Given the description of an element on the screen output the (x, y) to click on. 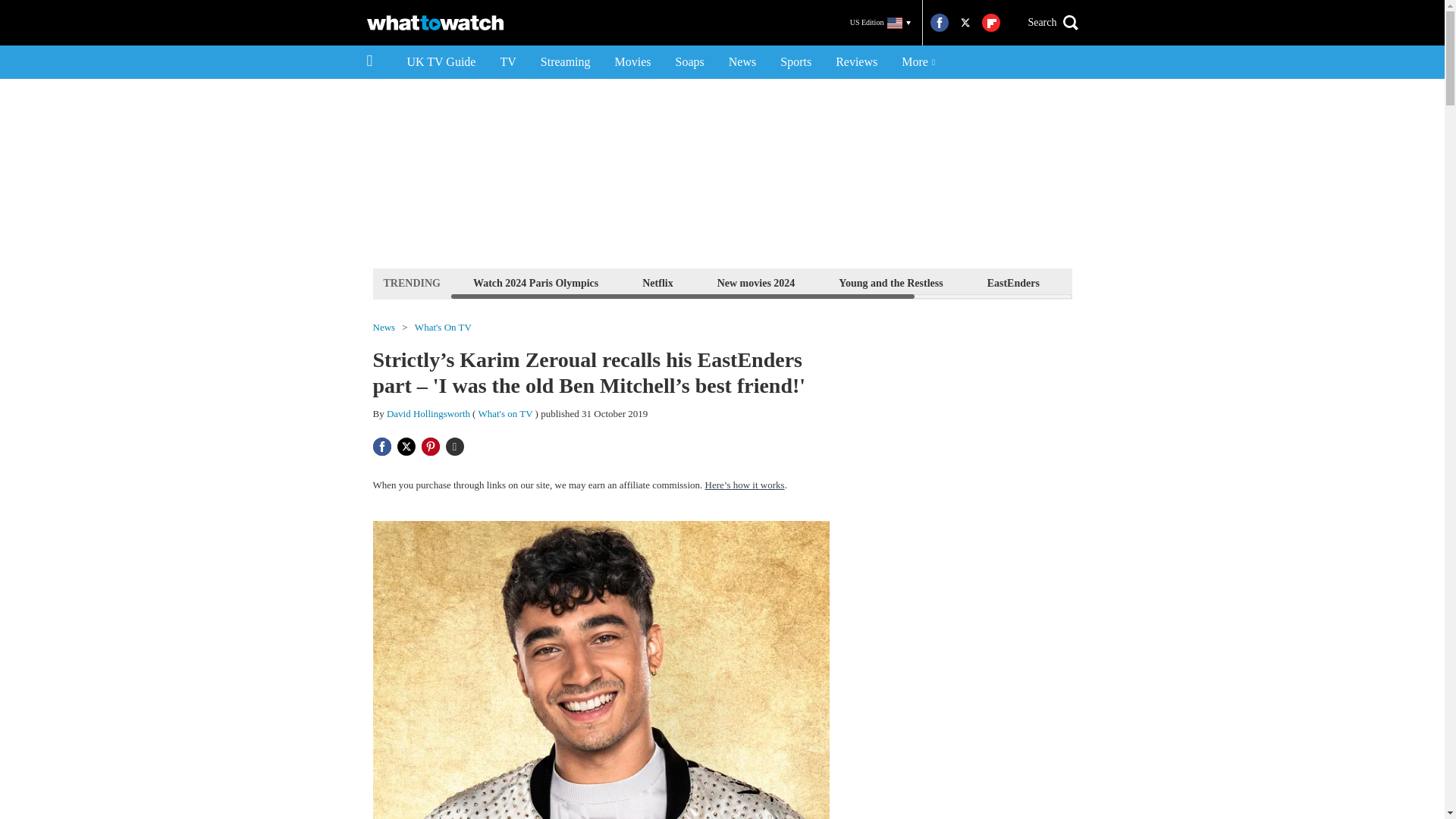
UK TV Guide (440, 61)
EastEnders (1013, 282)
Reviews (856, 61)
Soaps (689, 61)
Netflix (657, 282)
What's On TV (442, 327)
Watch 2024 Paris Olympics (535, 282)
Emmerdale (1109, 282)
David Hollingsworth (428, 413)
Sports (796, 61)
News (742, 61)
What's on TV (504, 413)
New movies 2024 (755, 282)
US Edition (880, 22)
Coronation Street (1220, 282)
